Given the description of an element on the screen output the (x, y) to click on. 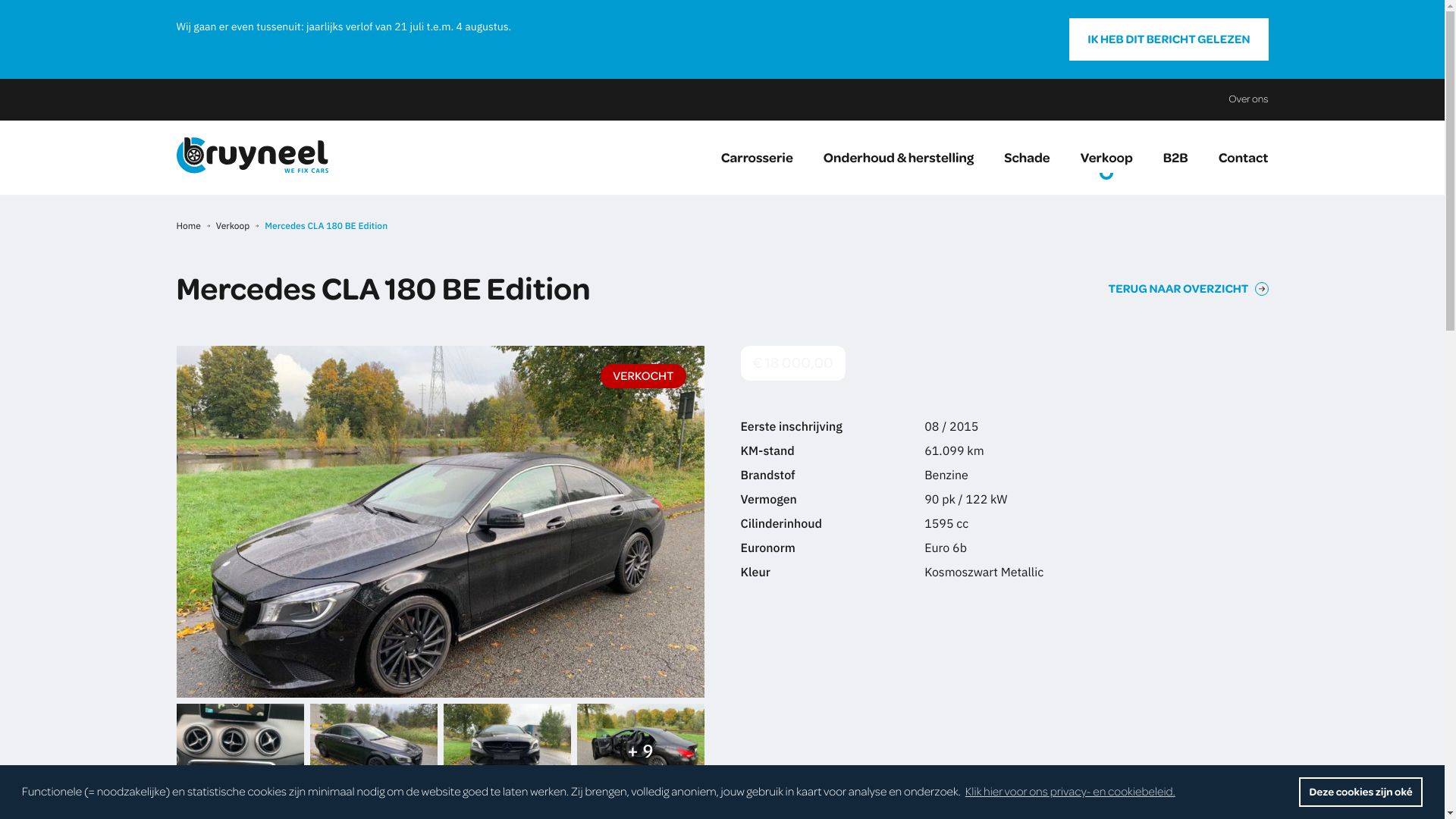
Klik hier voor ons privacy- en cookiebeleid. Element type: text (1070, 791)
TERUG NAAR OVERZICHT Element type: text (1188, 289)
B2B Element type: text (1175, 157)
+ 9 Element type: text (639, 750)
Carrosserie Element type: text (764, 157)
IK HEB DIT BERICHT GELEZEN Element type: text (1168, 39)
VERKOCHT Element type: text (439, 521)
nl Element type: hover (251, 155)
Verkoop Element type: text (1106, 157)
Home Element type: text (187, 225)
Over ons Element type: text (1247, 99)
Verkoop Element type: text (232, 225)
Onderhoud & herstelling Element type: text (898, 157)
Schade Element type: text (1026, 157)
Contact Element type: text (1235, 157)
